Given the description of an element on the screen output the (x, y) to click on. 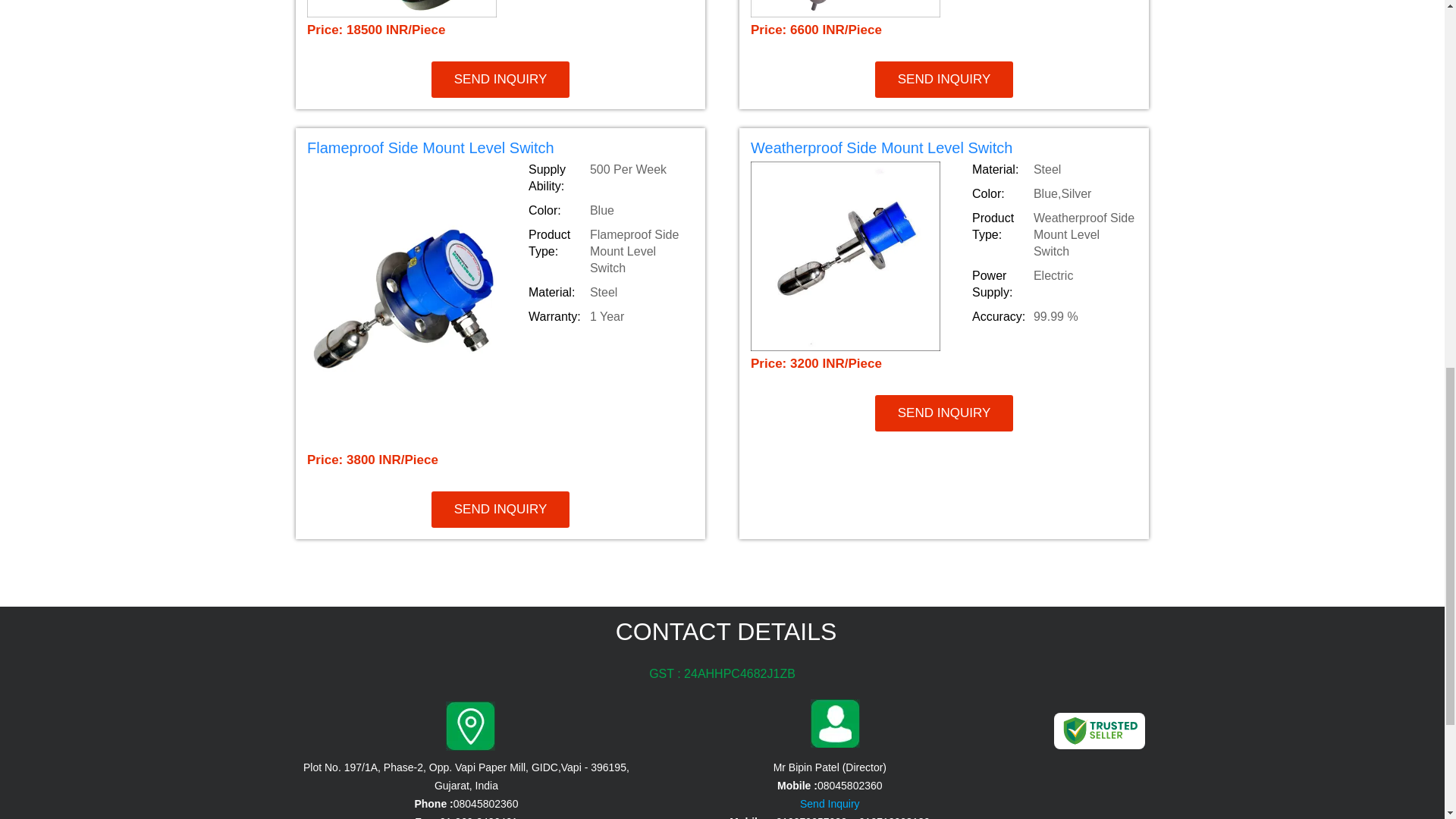
Color: Blue (610, 210)
Flameproof Side Mount Level Switch (500, 150)
Supply Ability: 500 Per Week (610, 177)
